Given the description of an element on the screen output the (x, y) to click on. 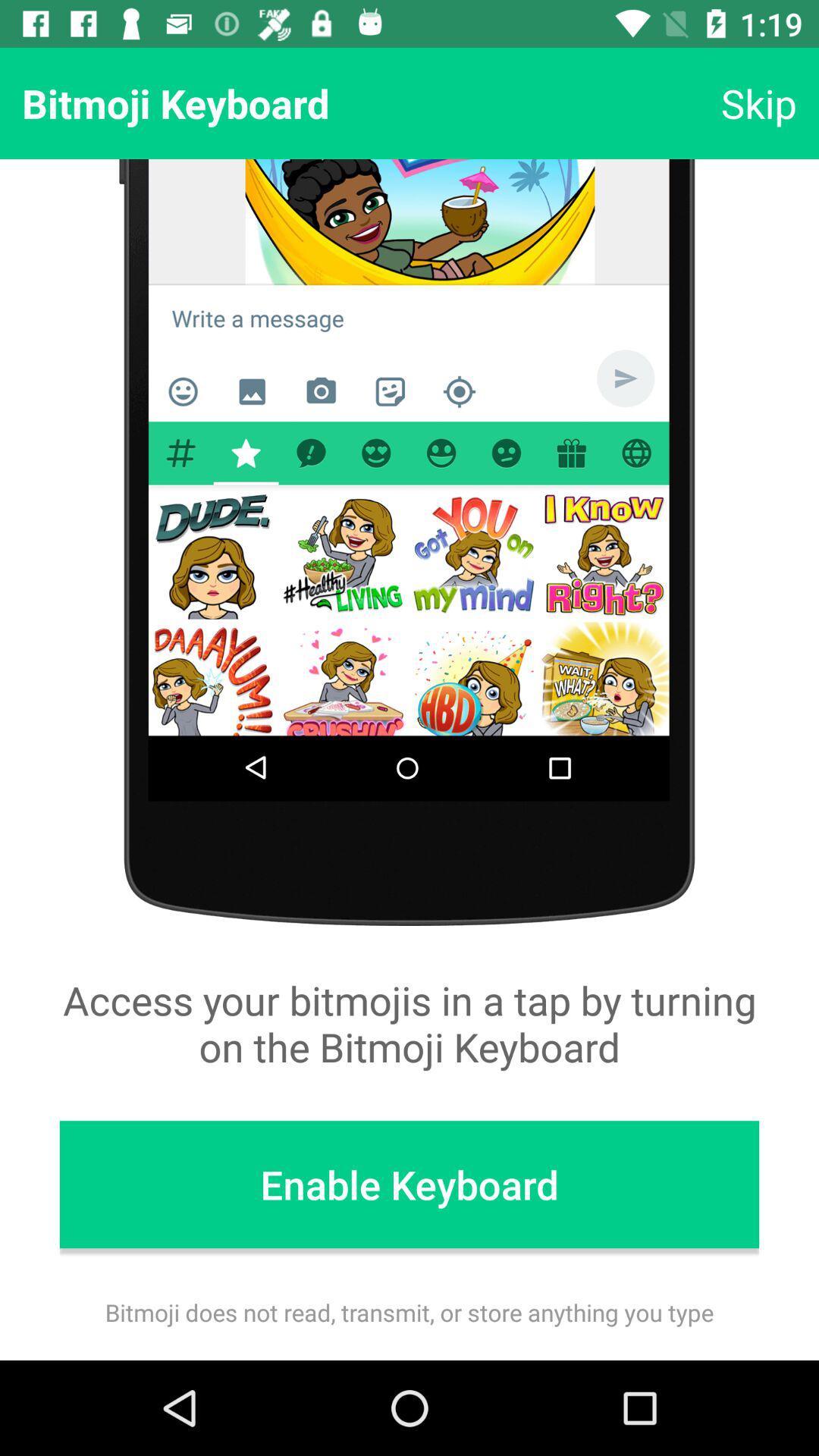
press item next to bitmoji keyboard icon (758, 102)
